Given the description of an element on the screen output the (x, y) to click on. 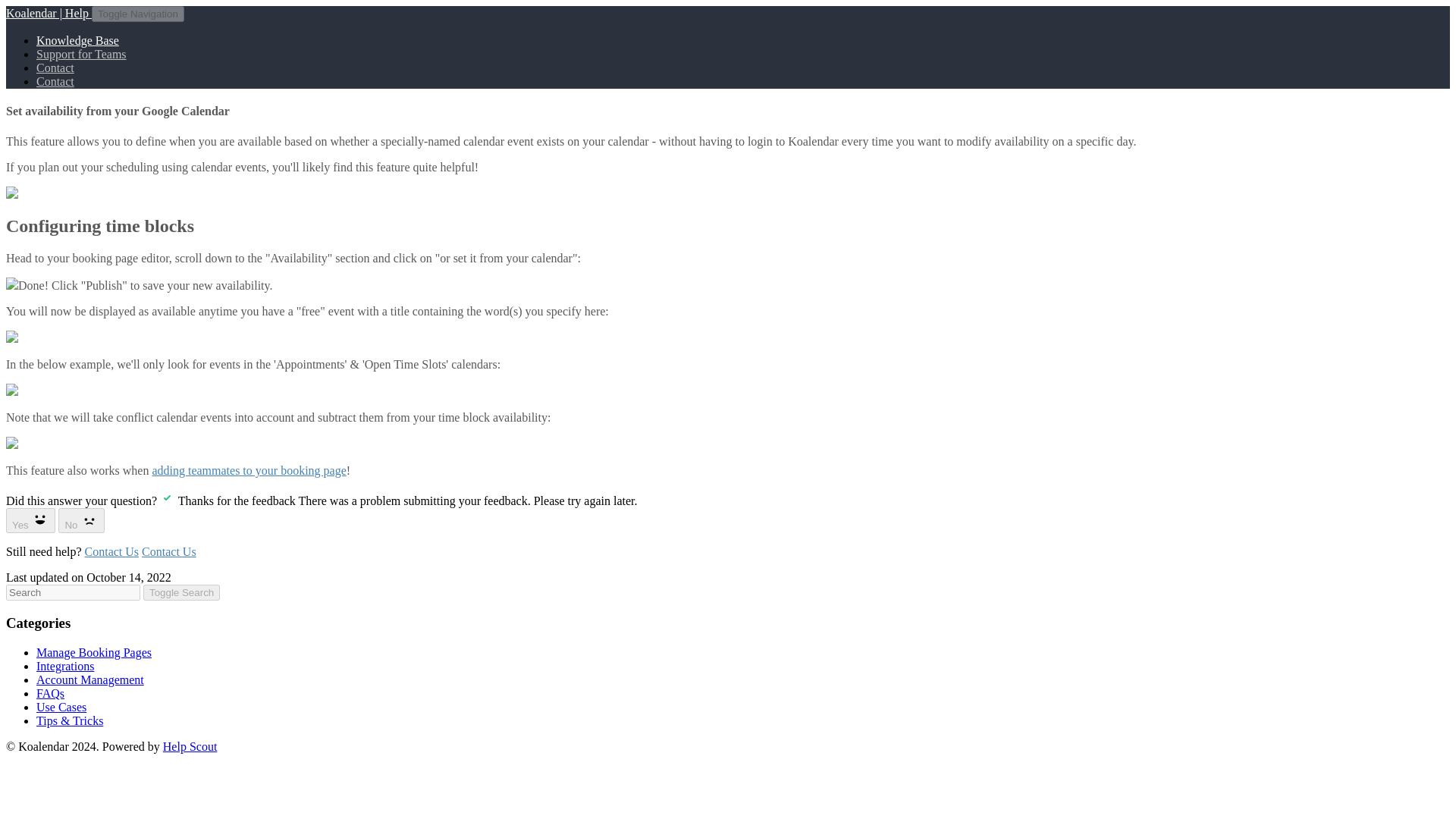
Yes (30, 520)
Use Cases (60, 707)
Contact (55, 81)
No (81, 520)
Manage Booking Pages (93, 652)
Contact (55, 67)
adding teammates to your booking page (248, 470)
Account Management (90, 679)
FAQs (50, 693)
search-query (72, 592)
